Given the description of an element on the screen output the (x, y) to click on. 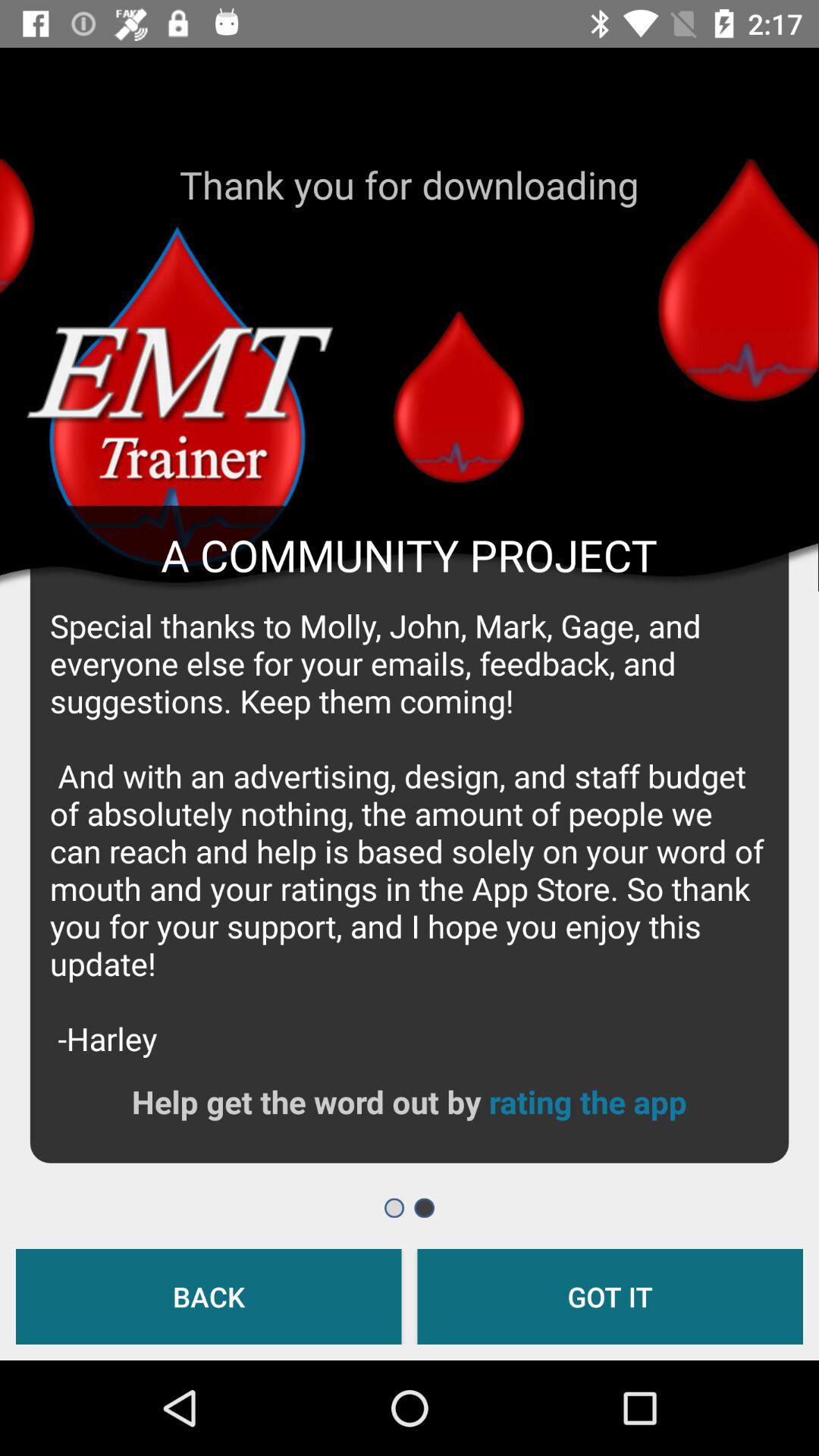
turn off the icon next to the back (610, 1296)
